Given the description of an element on the screen output the (x, y) to click on. 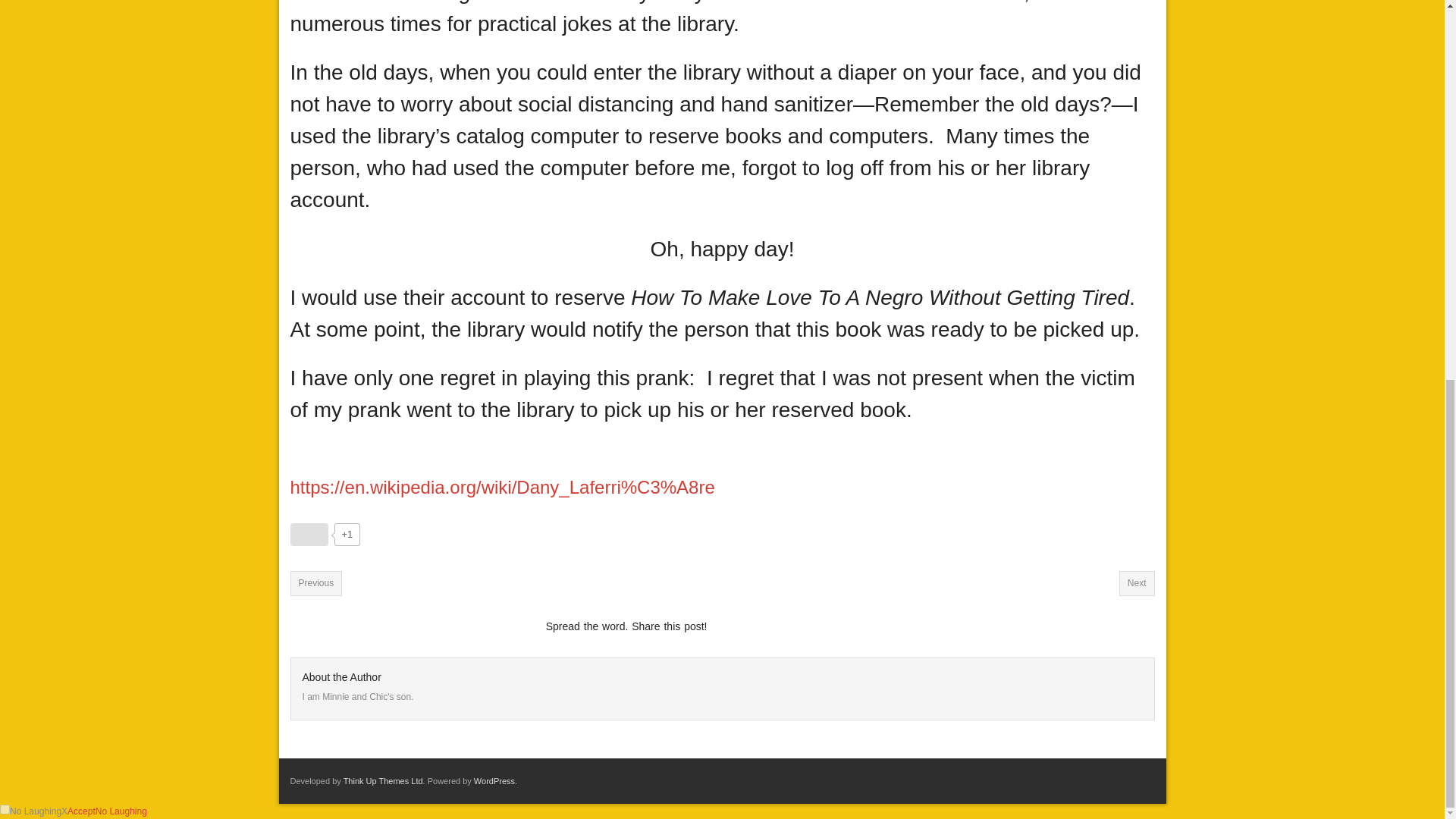
No Laughing (121, 810)
Previous (315, 582)
WordPress (494, 780)
Next (1136, 582)
on (5, 809)
Accept (81, 810)
Think Up Themes Ltd (383, 780)
